Given the description of an element on the screen output the (x, y) to click on. 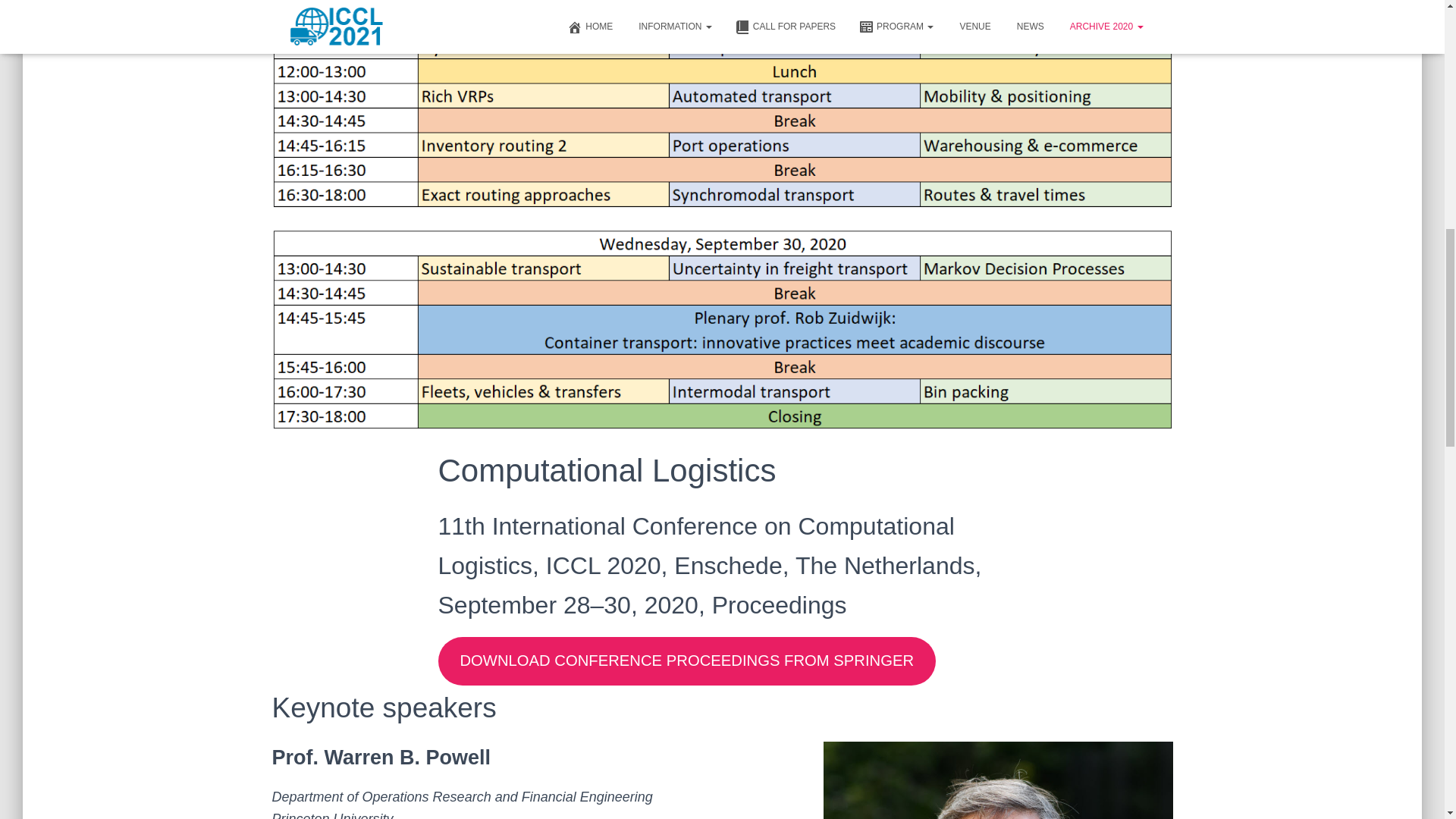
DOWNLOAD CONFERENCE PROCEEDINGS FROM SPRINGER (687, 661)
